Given the description of an element on the screen output the (x, y) to click on. 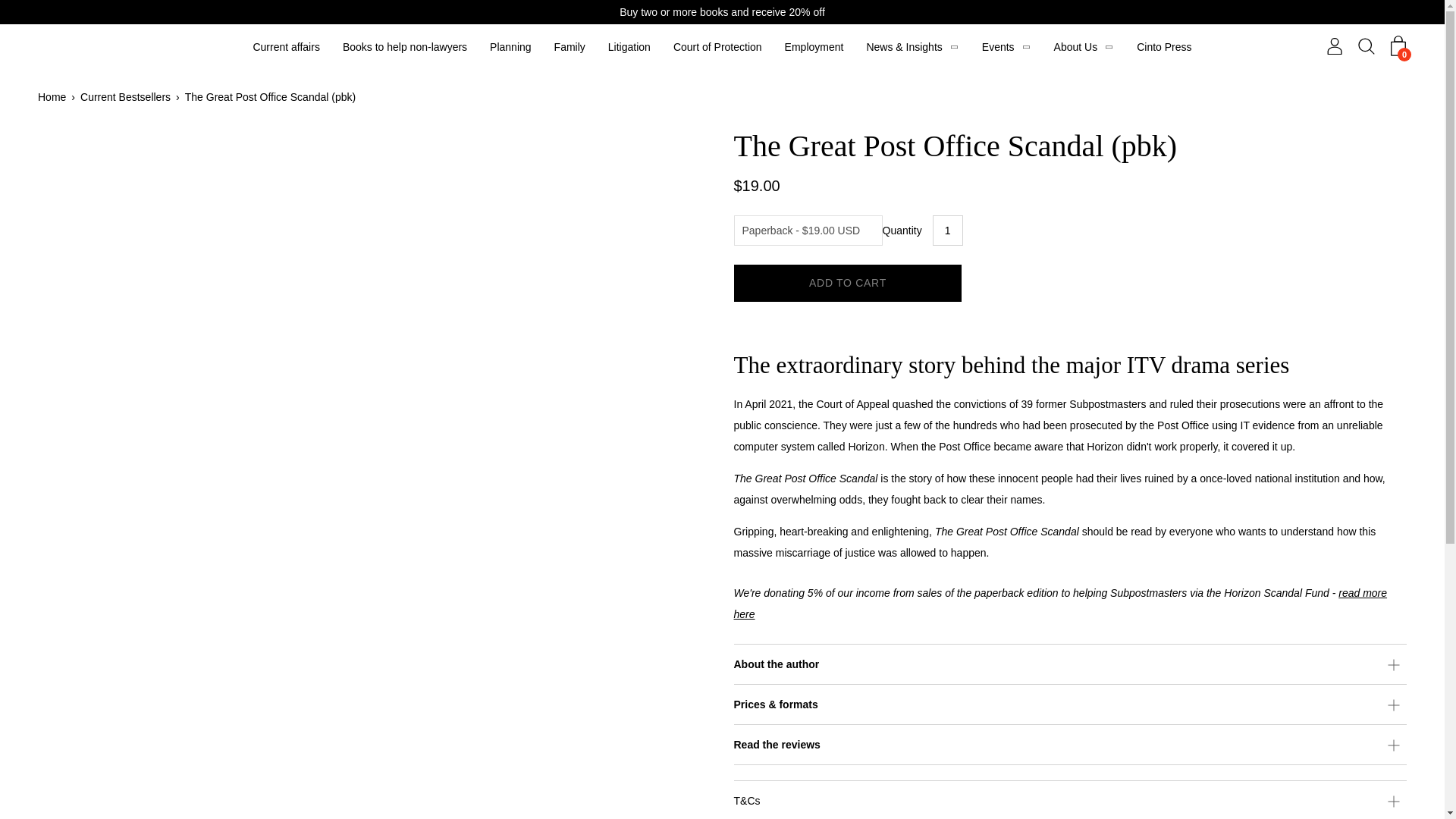
Litigation (629, 46)
Go back to Home page (54, 96)
Employment (814, 46)
Court of Protection (716, 46)
Current affairs (284, 46)
Family (569, 46)
1 (947, 230)
Planning (510, 46)
Books to help non-lawyers (404, 46)
